Given the description of an element on the screen output the (x, y) to click on. 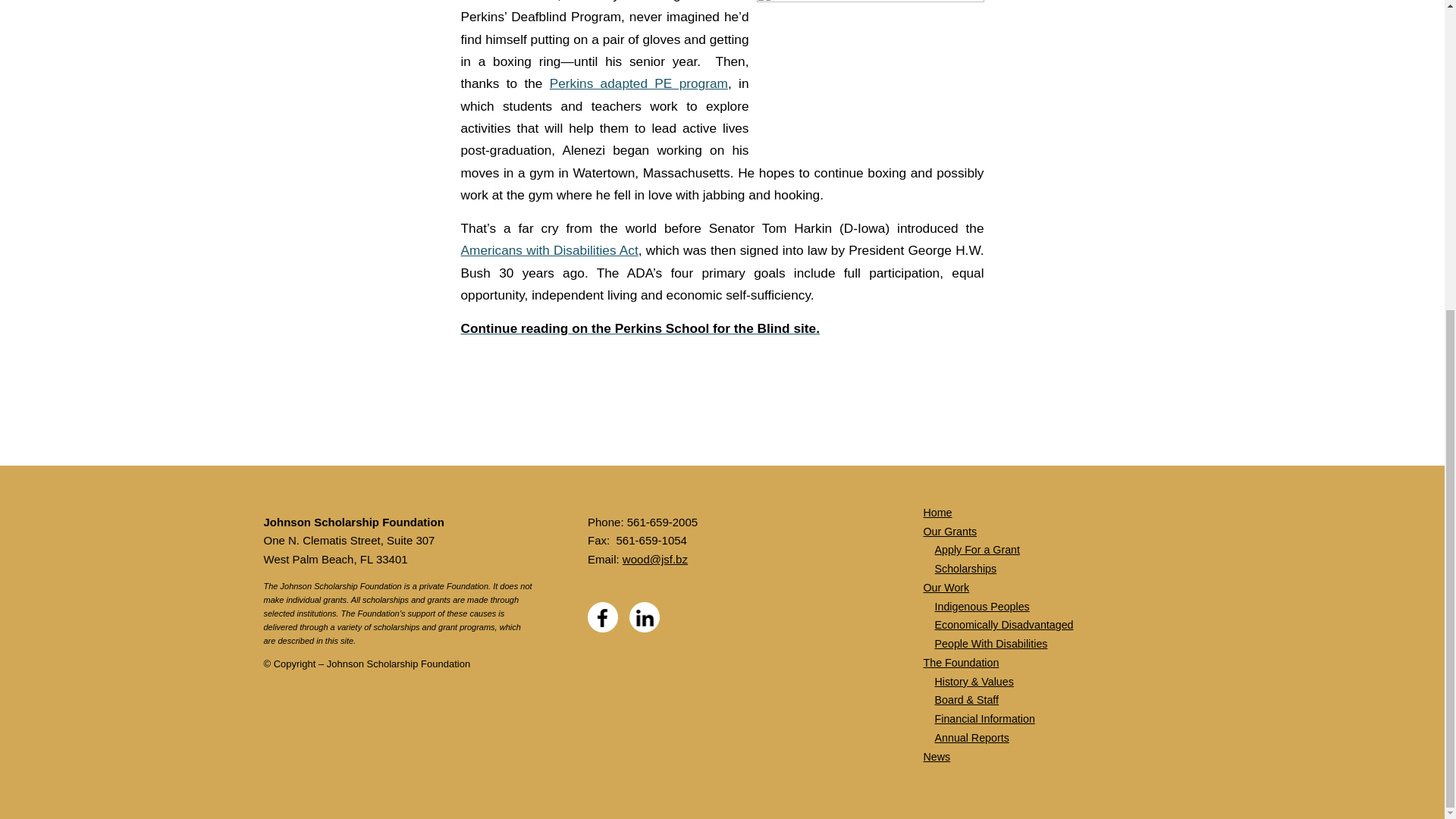
Americans with Disabilities Act (550, 249)
Follow us on Facebook (602, 616)
Perkins adapted PE program (639, 83)
Continue reading on the Perkins School for the Blind site. (640, 328)
Follow us on LinkedIn (643, 616)
Home (937, 512)
